Given the description of an element on the screen output the (x, y) to click on. 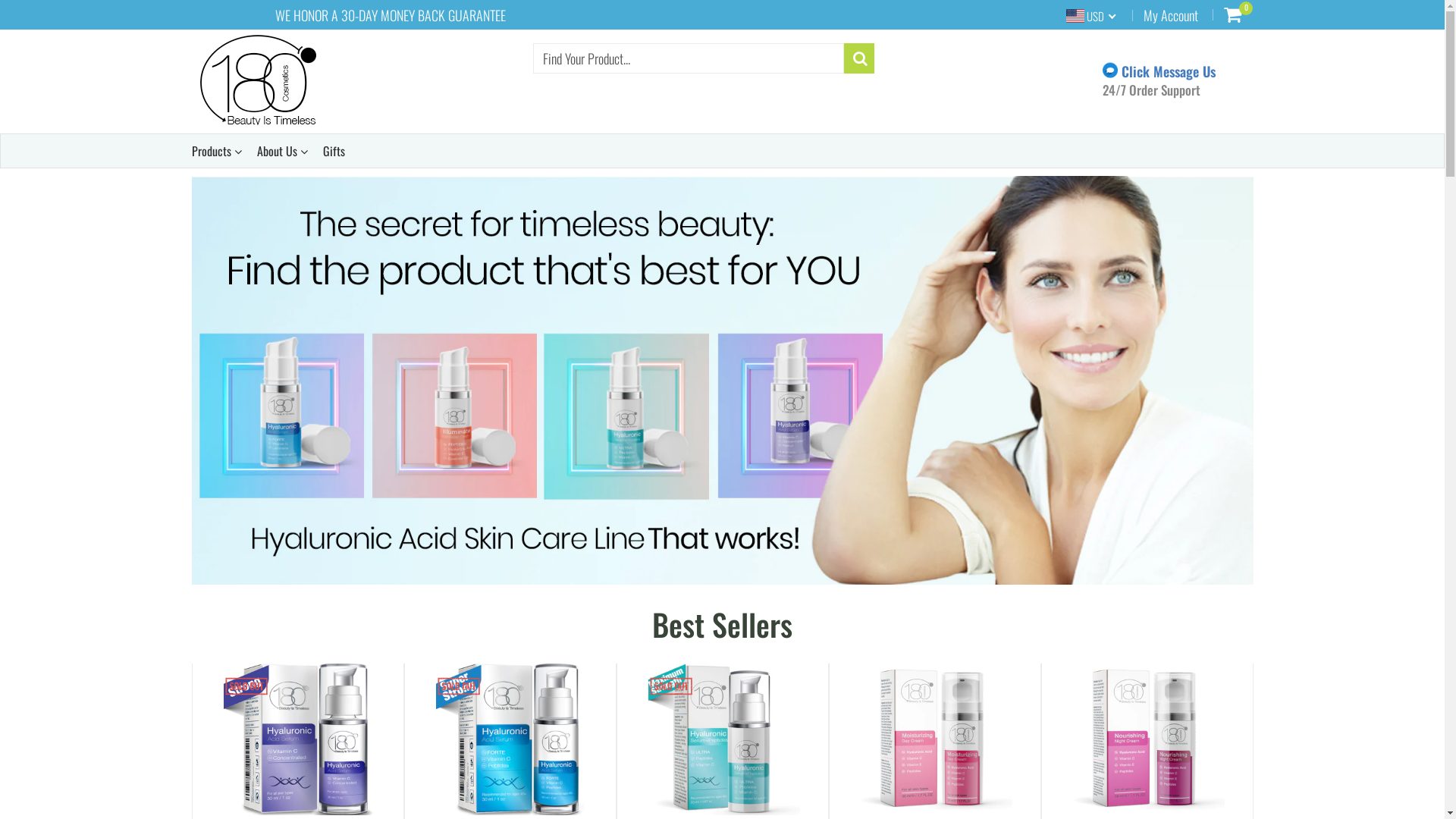
Best Sellers Element type: text (722, 623)
Products Element type: text (216, 150)
About Us Element type: text (281, 150)
Gifts Element type: text (334, 150)
My Account Element type: text (1170, 15)
    Element type: text (721, 379)
0 Element type: text (1232, 14)
Click Message Us Element type: text (1158, 70)
WE HONOR A 30-DAY MONEY BACK GUARANTEE Element type: text (389, 15)
